Given the description of an element on the screen output the (x, y) to click on. 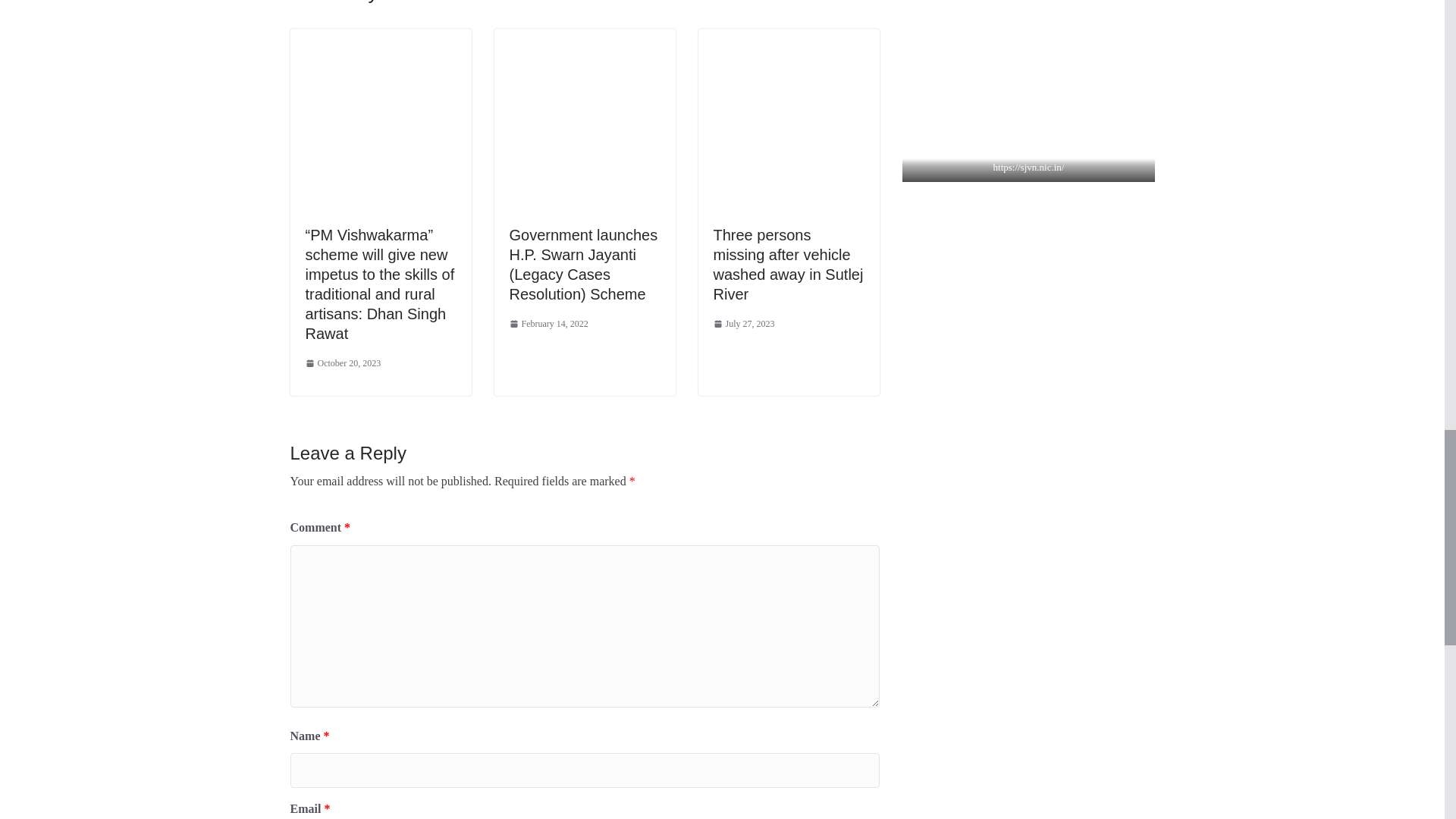
October 20, 2023 (342, 363)
July 27, 2023 (743, 324)
February 14, 2022 (548, 324)
